Given the description of an element on the screen output the (x, y) to click on. 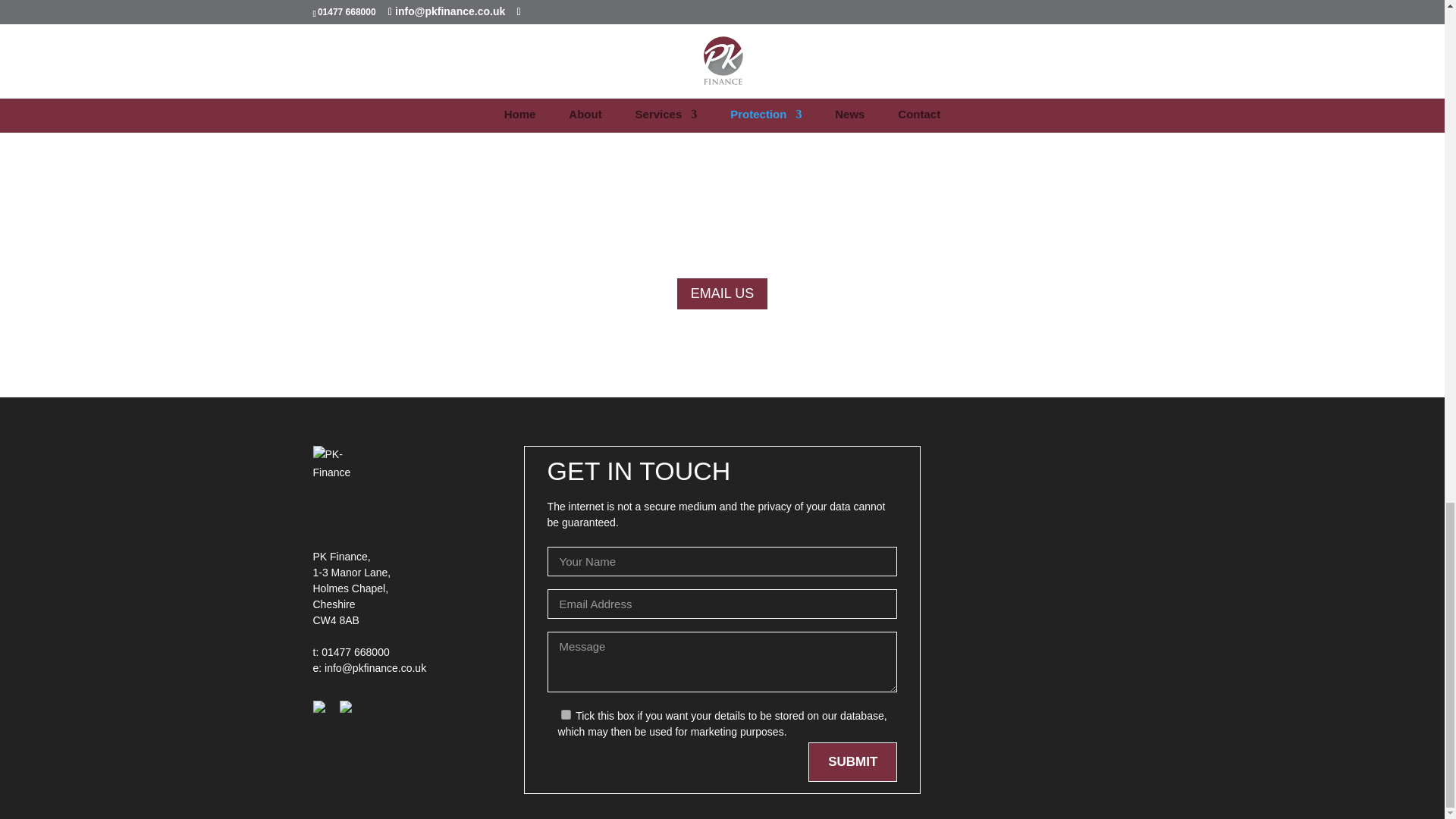
EMAIL US (722, 293)
SUBMIT (852, 762)
1 (565, 714)
SUBMIT (852, 762)
